Given the description of an element on the screen output the (x, y) to click on. 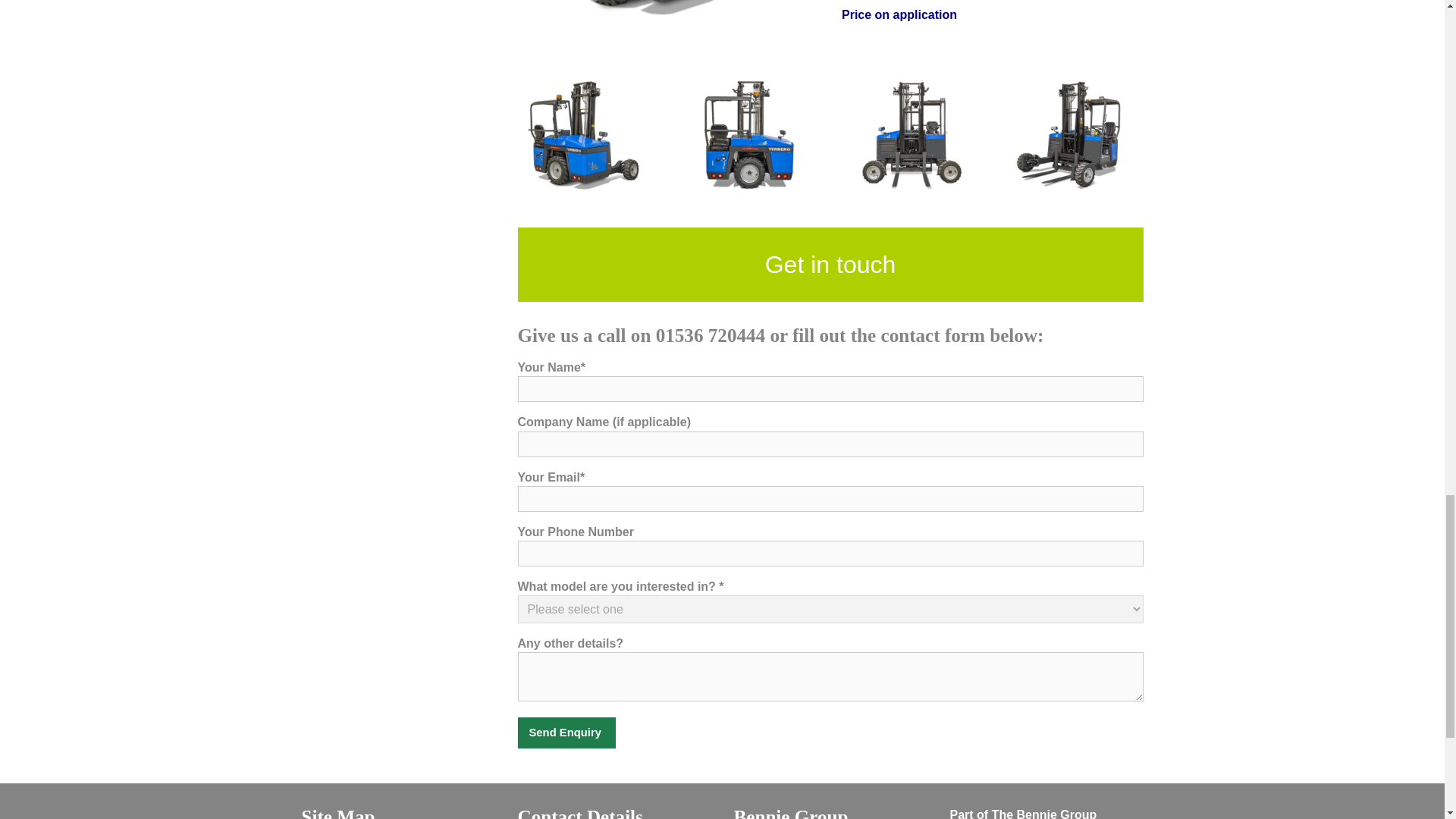
Send Enquiry  (565, 732)
